Given the description of an element on the screen output the (x, y) to click on. 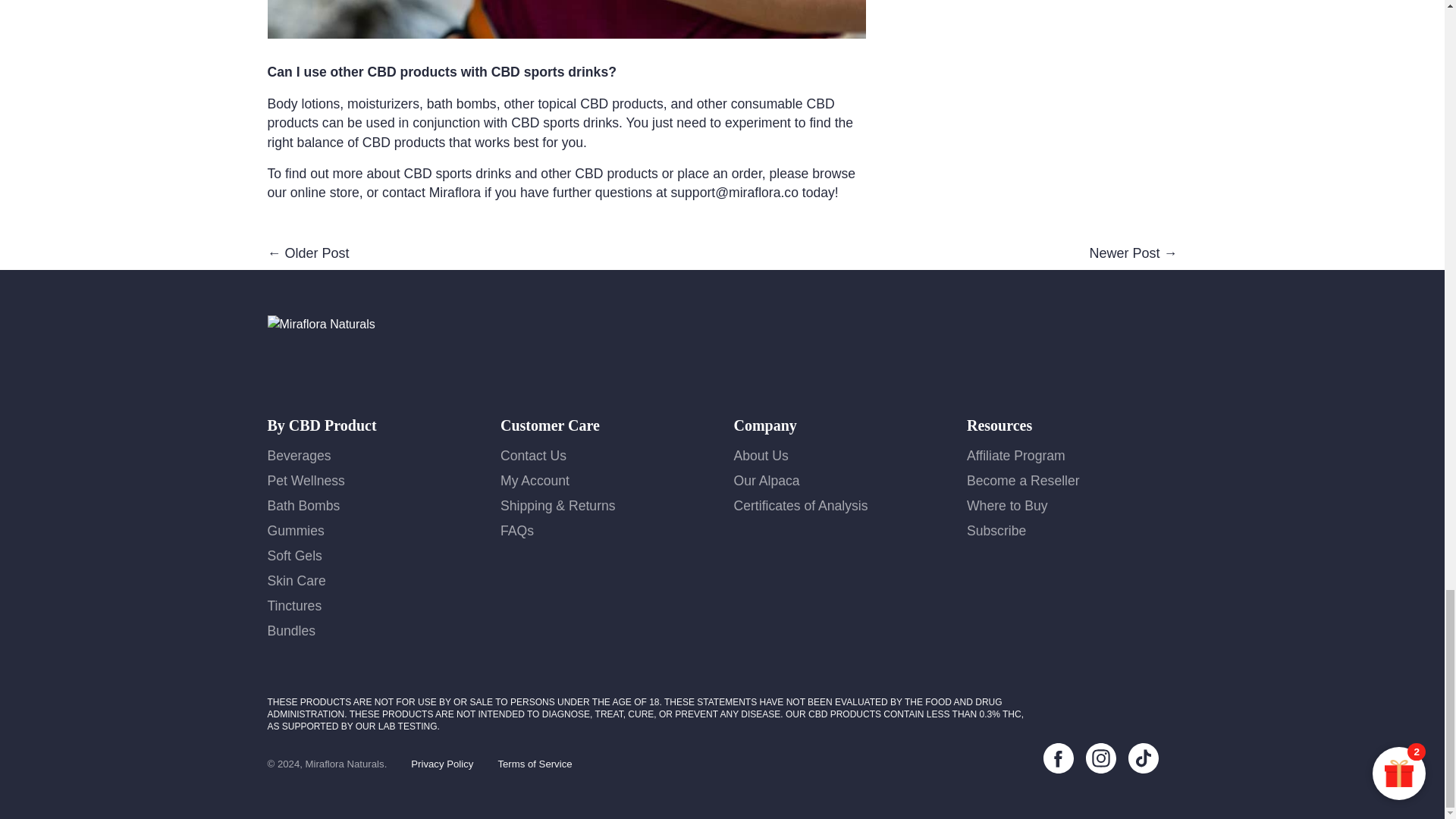
View Miraflora Naturals on Instagram (1101, 757)
Privacy Policy (441, 764)
View Miraflora Naturals on Facebook (1058, 757)
View Miraflora Naturals on Tiktok (1143, 757)
Terms of Service (534, 764)
